Given the description of an element on the screen output the (x, y) to click on. 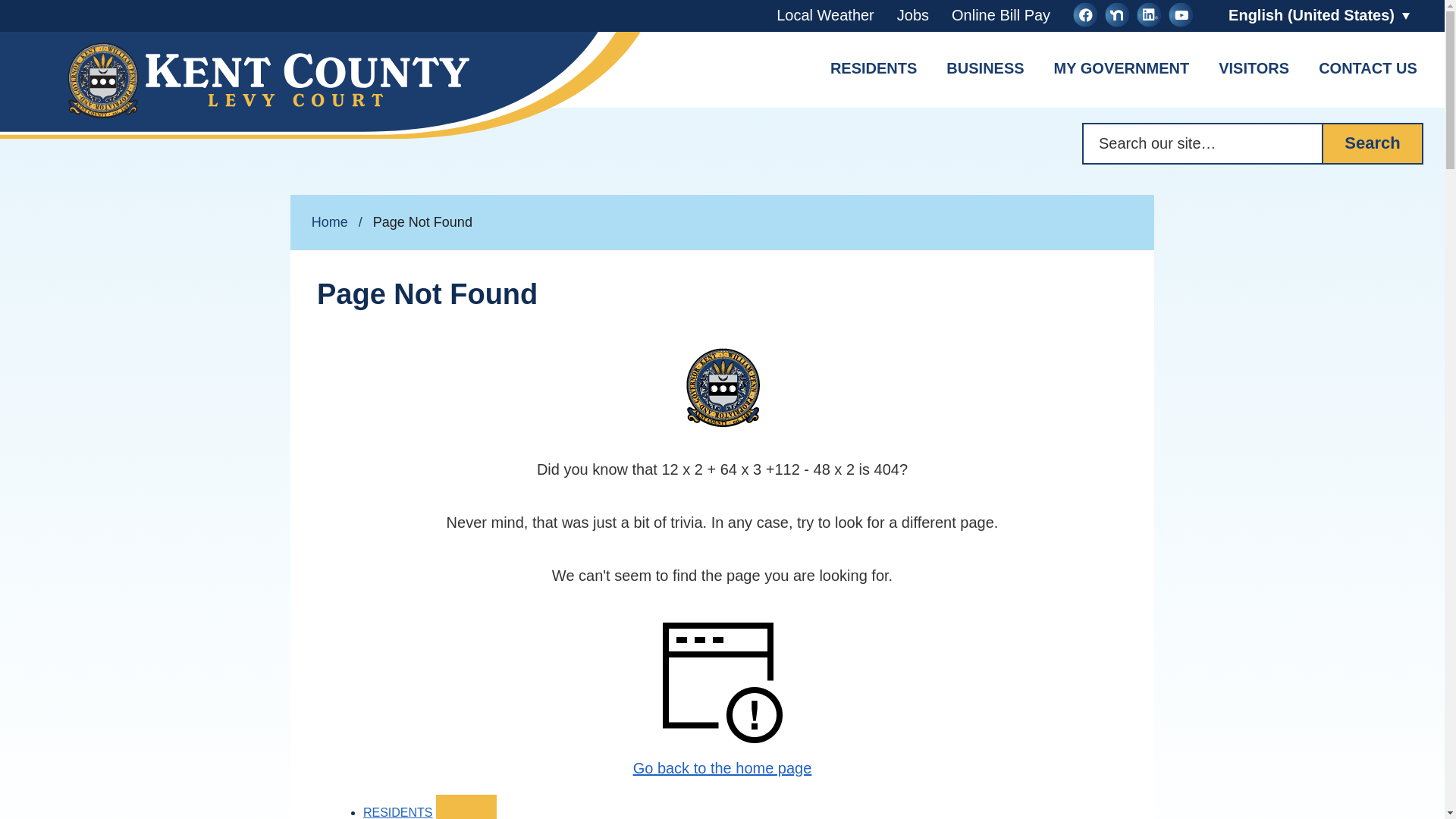
Search (1372, 143)
LinkedIn (1148, 16)
Nextdoor (1117, 16)
RESIDENTS (873, 69)
Jobs (912, 14)
Kent County Levy Court - Home - Logo (323, 85)
Local Weather (825, 14)
Search (1372, 143)
YouTube (1180, 16)
Facebook (1085, 16)
Online Bill Pay (1000, 14)
